Given the description of an element on the screen output the (x, y) to click on. 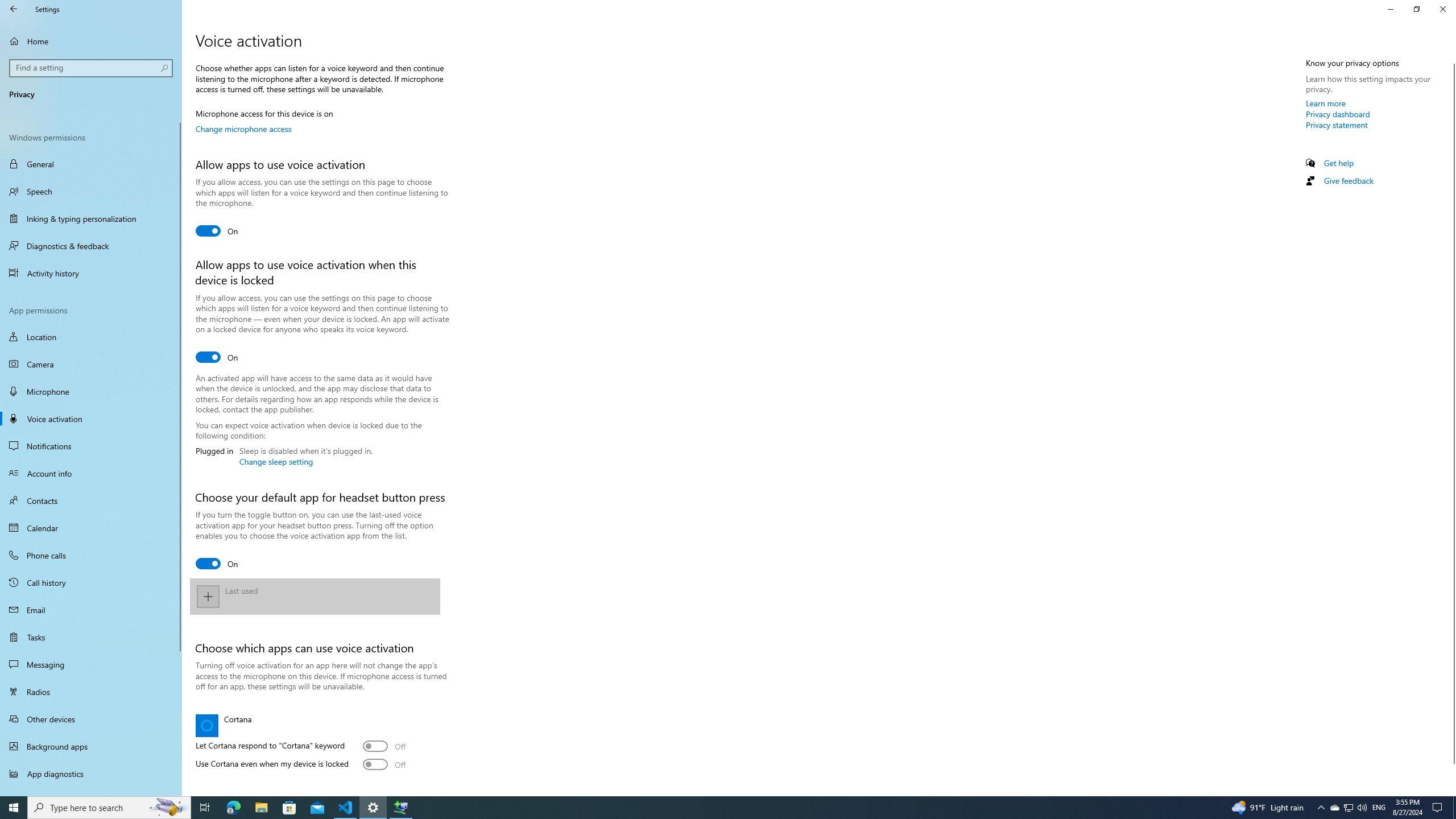
Get help (1338, 162)
Messaging (91, 664)
Learn more (1326, 102)
Use Cortana even when my device is locked (384, 764)
Voice activation (91, 418)
Allow apps to use voice activation (216, 230)
Diagnostics & feedback (91, 245)
Last used (314, 596)
Running applications (706, 807)
Phone calls (91, 554)
